Given the description of an element on the screen output the (x, y) to click on. 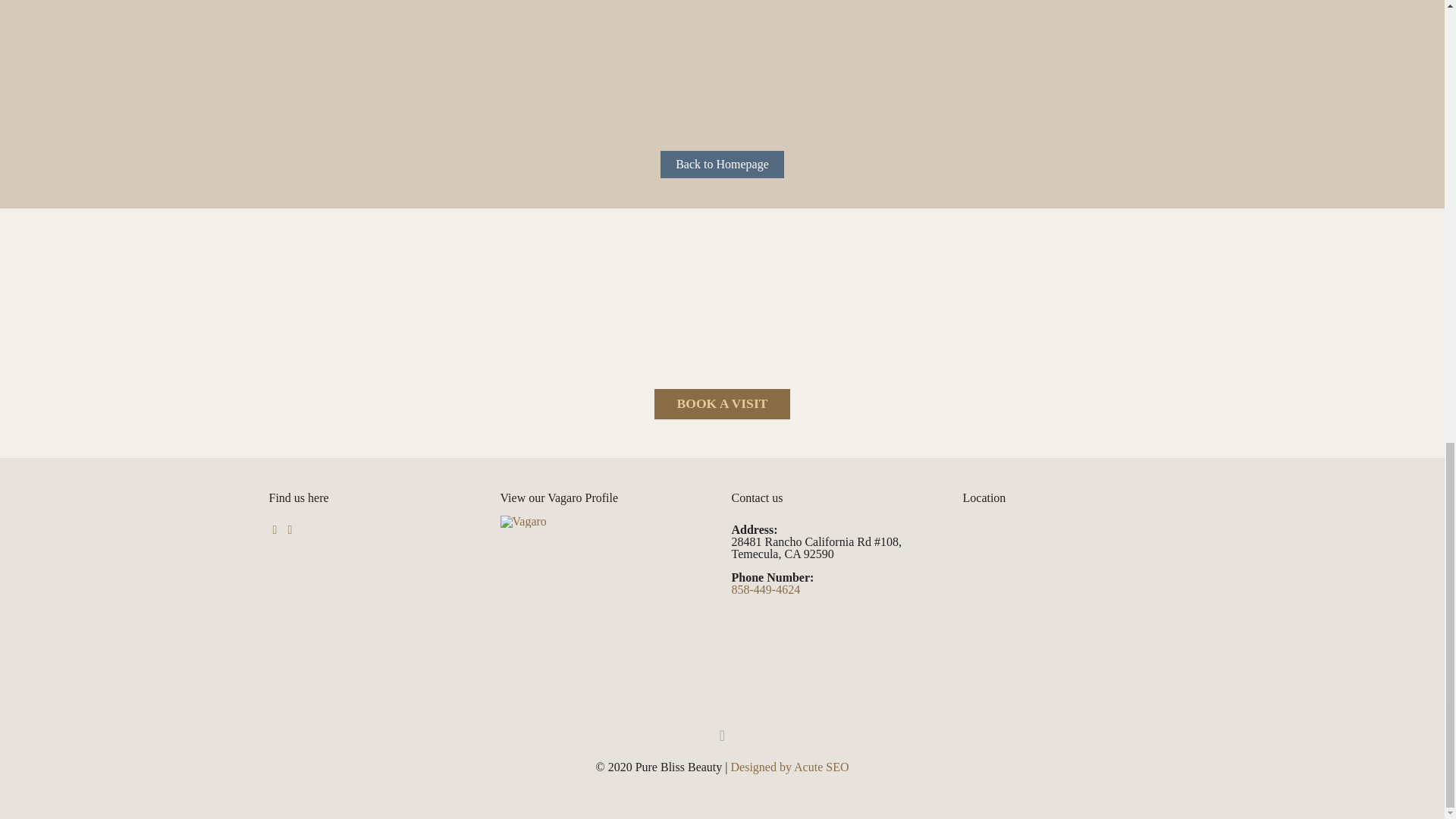
Designed by Acute SEO (789, 766)
Back to Homepage (722, 164)
Send (1031, 117)
858-449-4624 (764, 589)
BOOK A VISIT (721, 404)
